Given the description of an element on the screen output the (x, y) to click on. 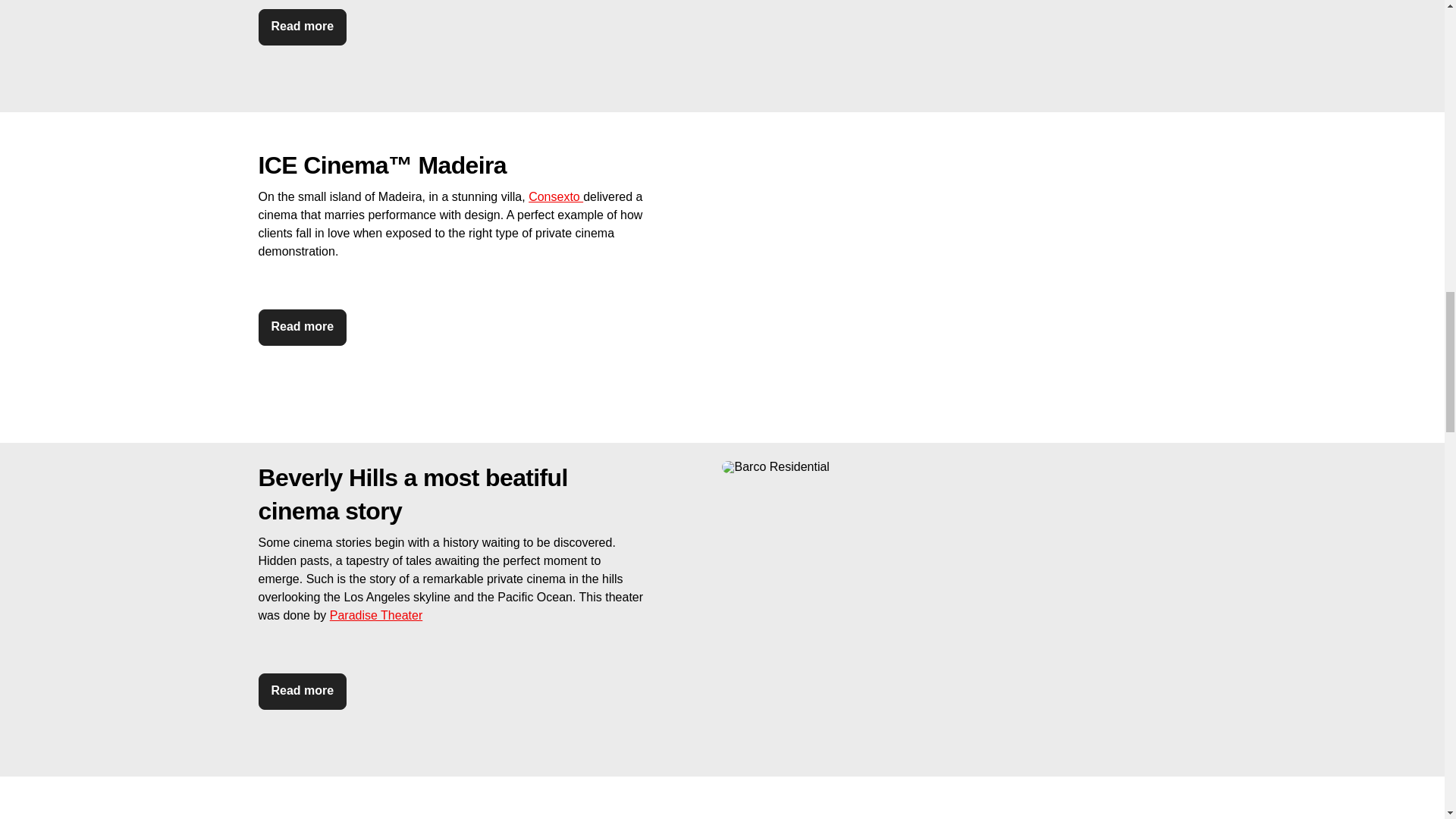
Beverly Hills DCI Cinema outside image (954, 467)
